Given the description of an element on the screen output the (x, y) to click on. 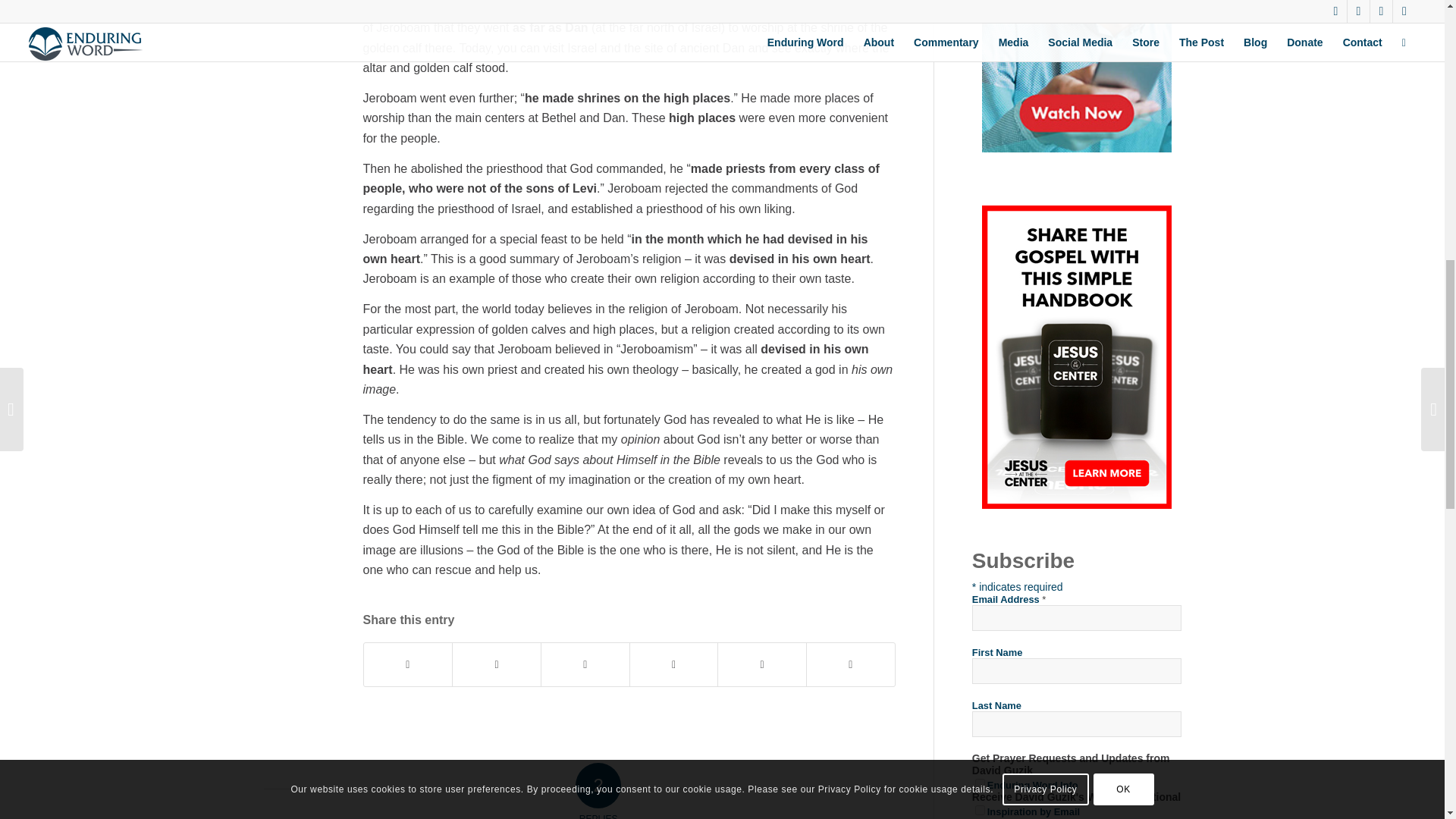
1 (980, 783)
2 (980, 809)
